Given the description of an element on the screen output the (x, y) to click on. 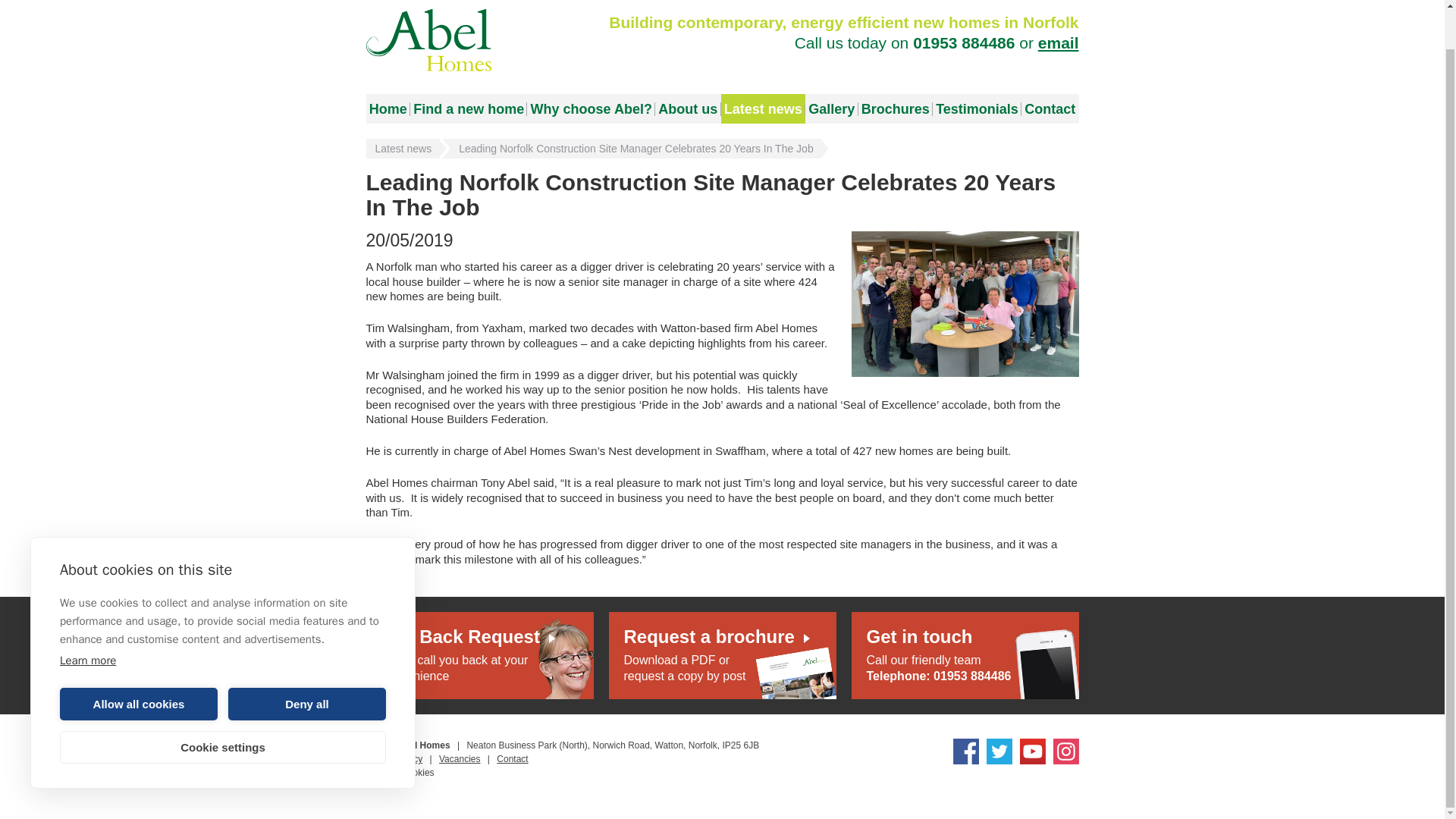
Gallery (831, 109)
Latest news (402, 148)
Facebook (965, 751)
About us (687, 109)
Privacy Policy (393, 758)
Testimonials (977, 109)
email (1058, 42)
Contact (511, 758)
Home (387, 109)
